Given the description of an element on the screen output the (x, y) to click on. 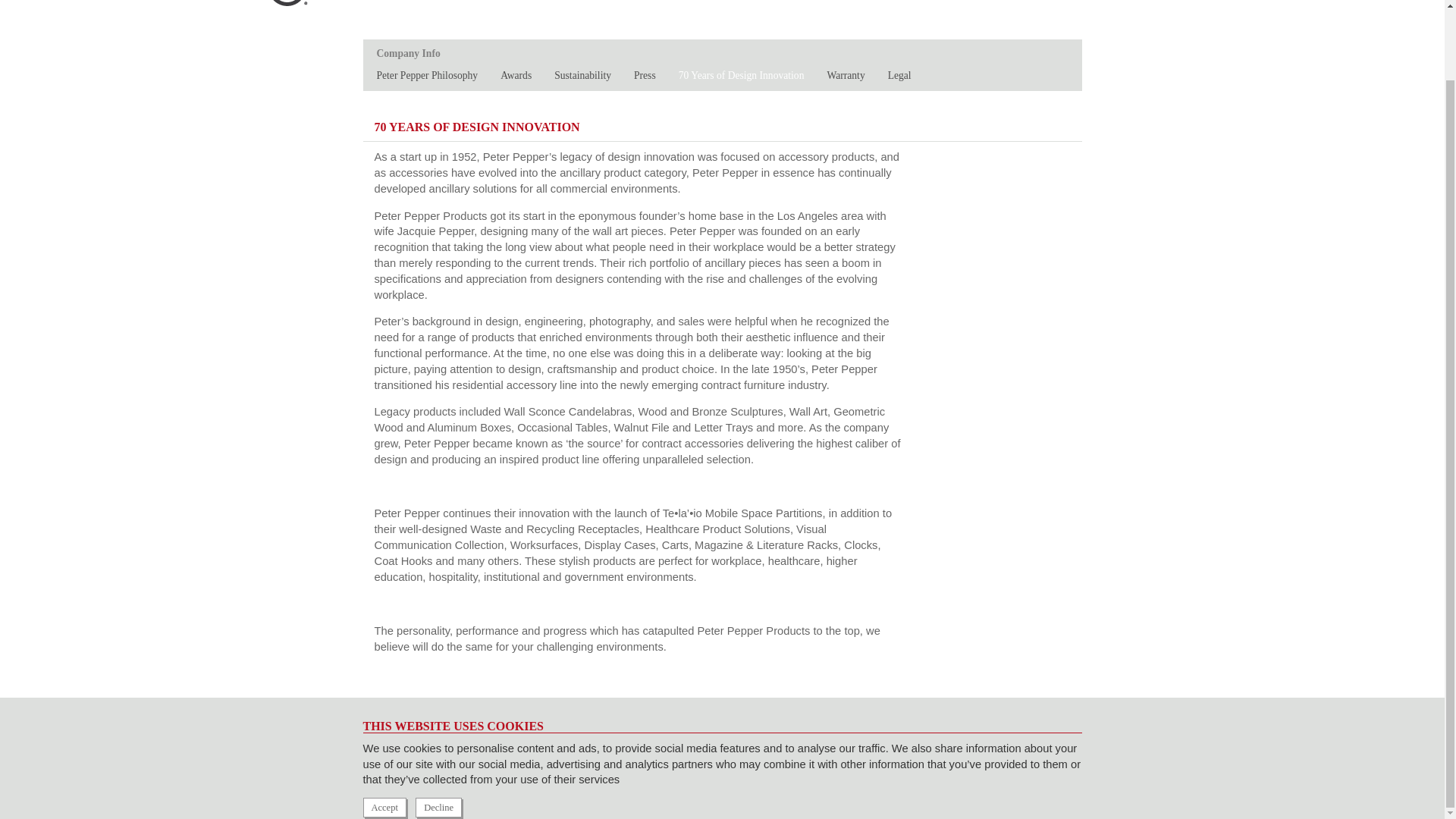
Products (831, 12)
70 Years of Design Innovation (741, 75)
Sustainability (582, 75)
Contracts (1007, 12)
Awards (515, 75)
Contact Us (1096, 12)
Warranty (845, 75)
Press (644, 75)
Peter Pepper Philosophy (426, 75)
Resources (917, 12)
